Given the description of an element on the screen output the (x, y) to click on. 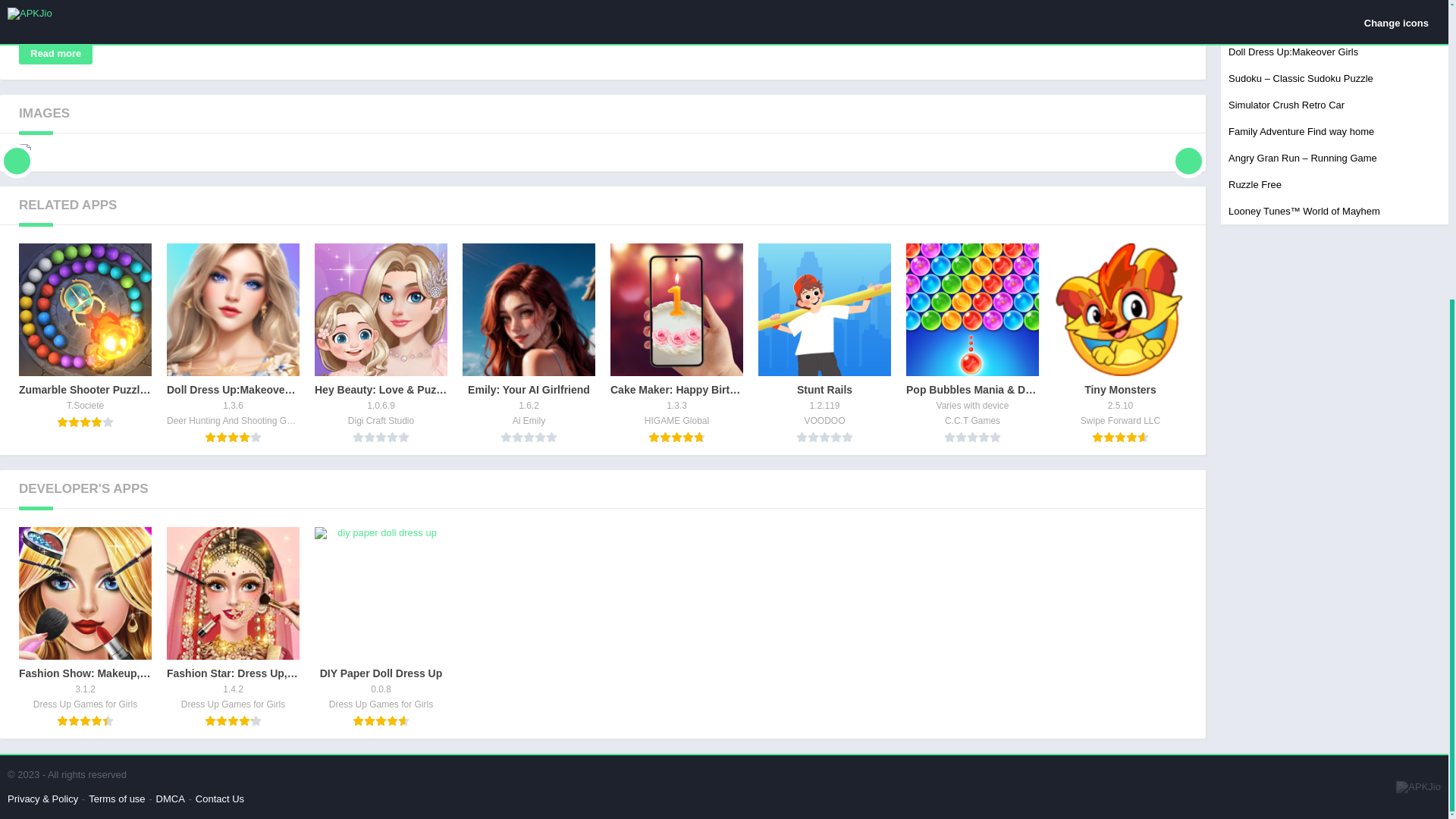
Previous (1120, 343)
Zumarble Shooter Puzzle:Deluxe (84, 335)
Next (676, 343)
